Given the description of an element on the screen output the (x, y) to click on. 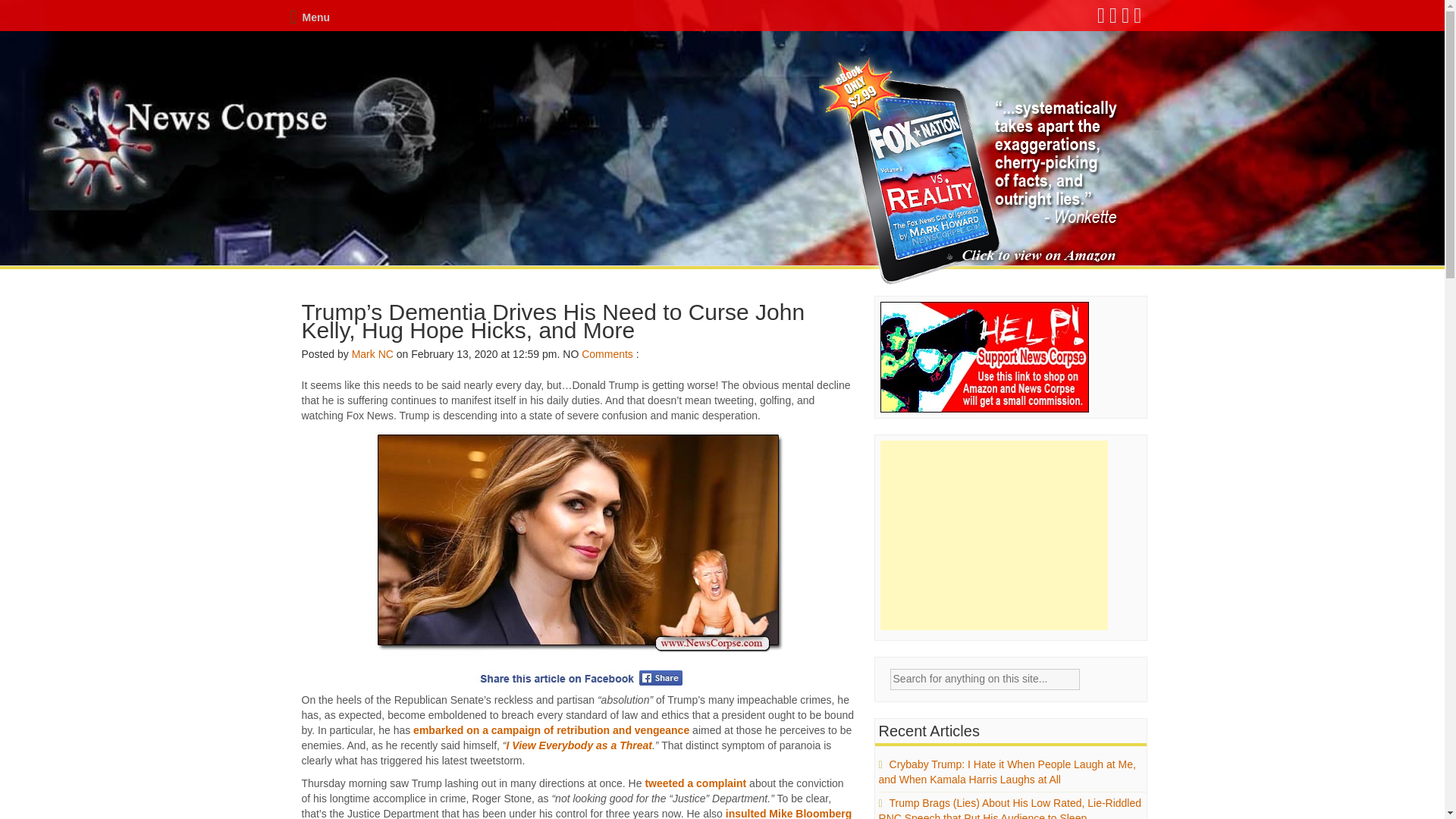
Comments (606, 354)
I View Everybody as a Threat (579, 745)
Menu (309, 17)
tweeted a complaint (695, 783)
Fox Nation vs. Reality (971, 170)
insulted Mike Bloomberg (788, 813)
Posts by Mark NC (372, 354)
Share on Facebook (578, 677)
Mark NC (372, 354)
embarked on a campaign of retribution and vengeance (550, 729)
